Given the description of an element on the screen output the (x, y) to click on. 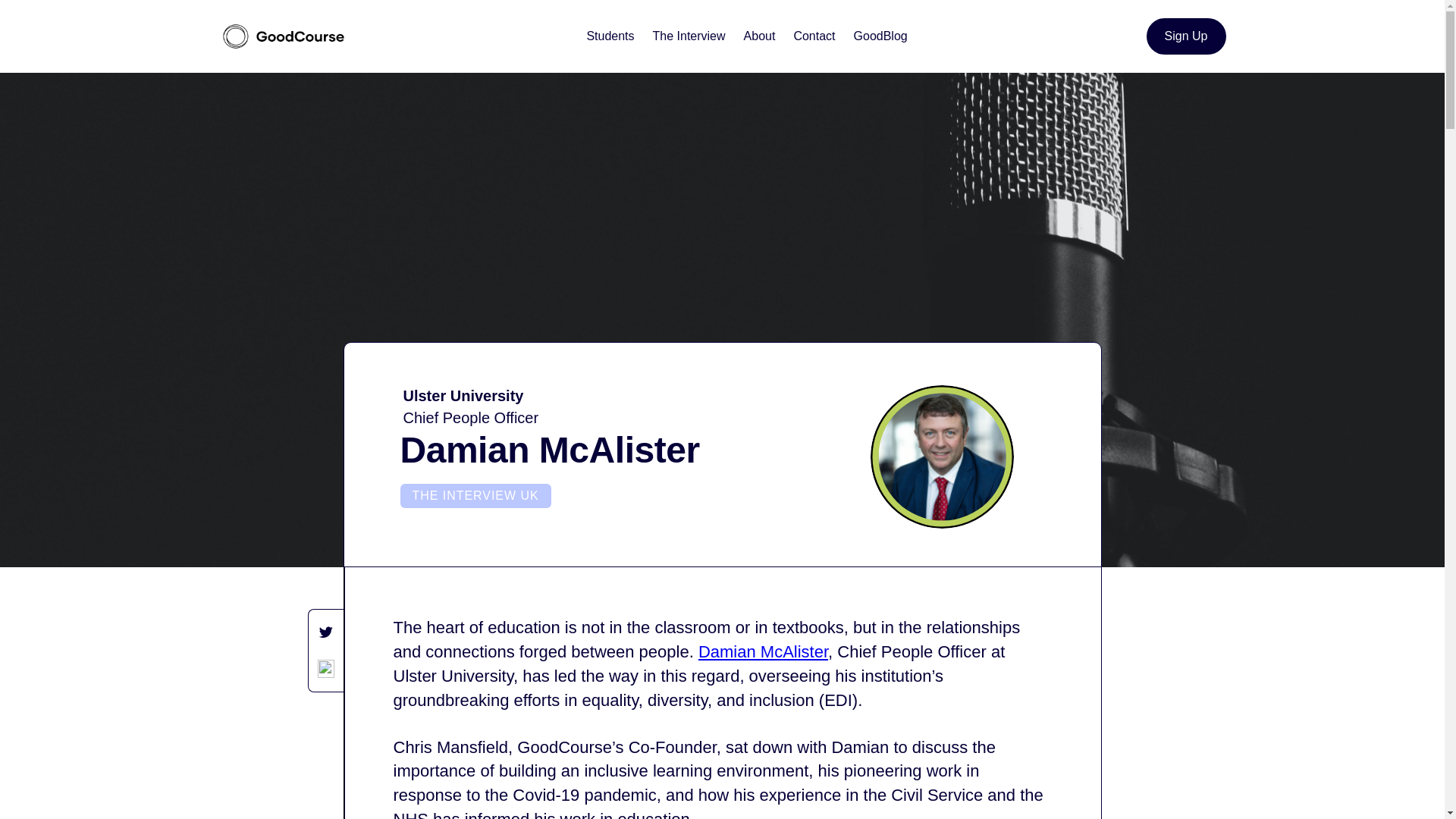
Sign Up (1186, 36)
Damian McAlister (763, 651)
Students (609, 35)
The Interview (689, 35)
Contact (814, 35)
About (759, 35)
GoodBlog (880, 35)
